Given the description of an element on the screen output the (x, y) to click on. 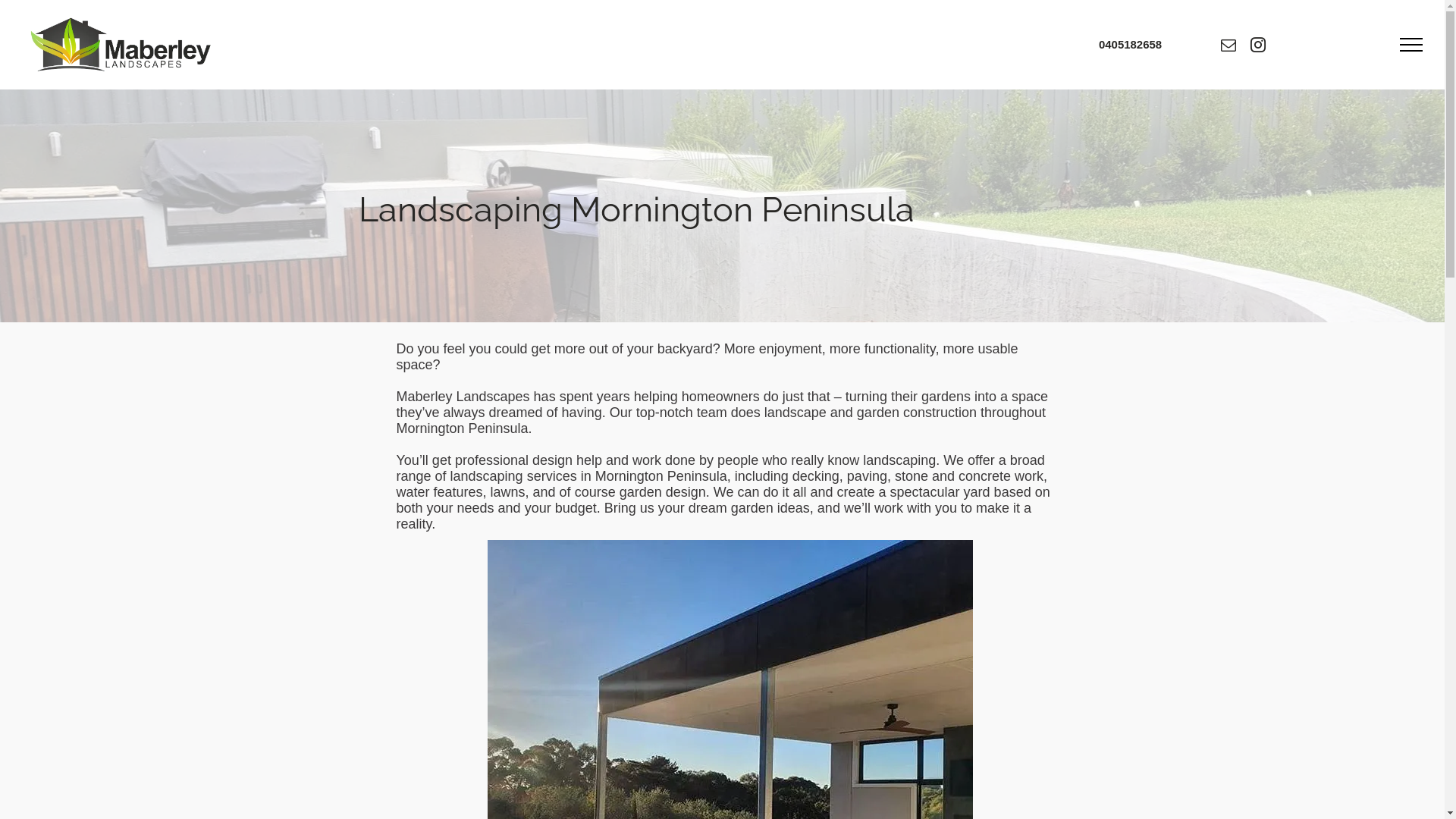
0405182658 Element type: text (1129, 43)
